Given the description of an element on the screen output the (x, y) to click on. 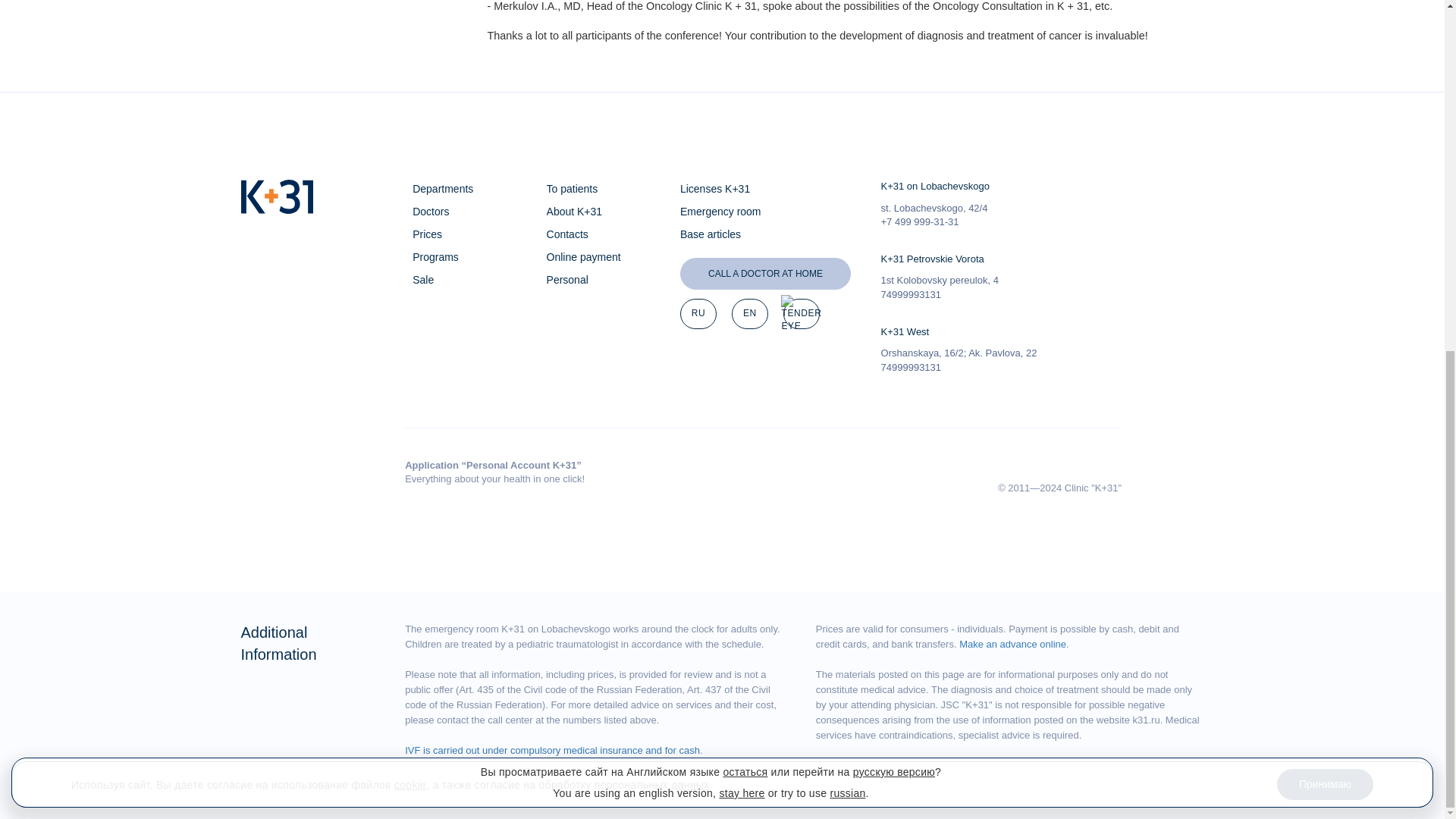
English (750, 313)
cookie (410, 174)
Tender eye (801, 313)
Tender eye (800, 313)
